Given the description of an element on the screen output the (x, y) to click on. 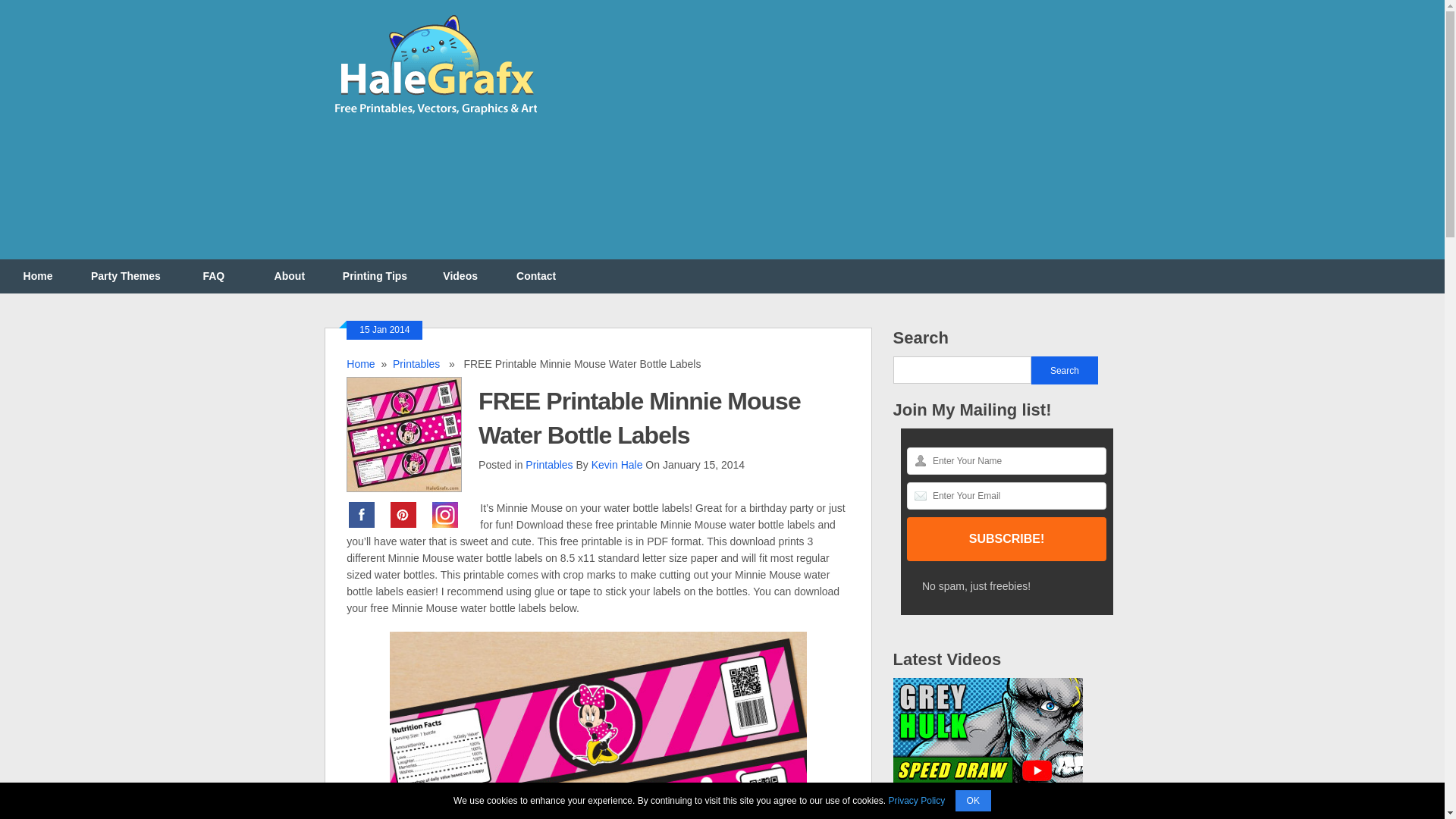
HaleGrafx (37, 276)
About HaleGrafx (289, 276)
FAQ (213, 276)
SUBSCRIBE! (1006, 538)
Printables (548, 464)
HaleGrafx Party Themes (125, 276)
Videos (459, 276)
Posts by Kevin Hale (617, 464)
Printing Tips (374, 276)
HaleGrafx Videos (459, 276)
Advertisement (845, 138)
HaleGrafx (435, 120)
Party Themes (125, 276)
Contact (535, 276)
Home (37, 276)
